Given the description of an element on the screen output the (x, y) to click on. 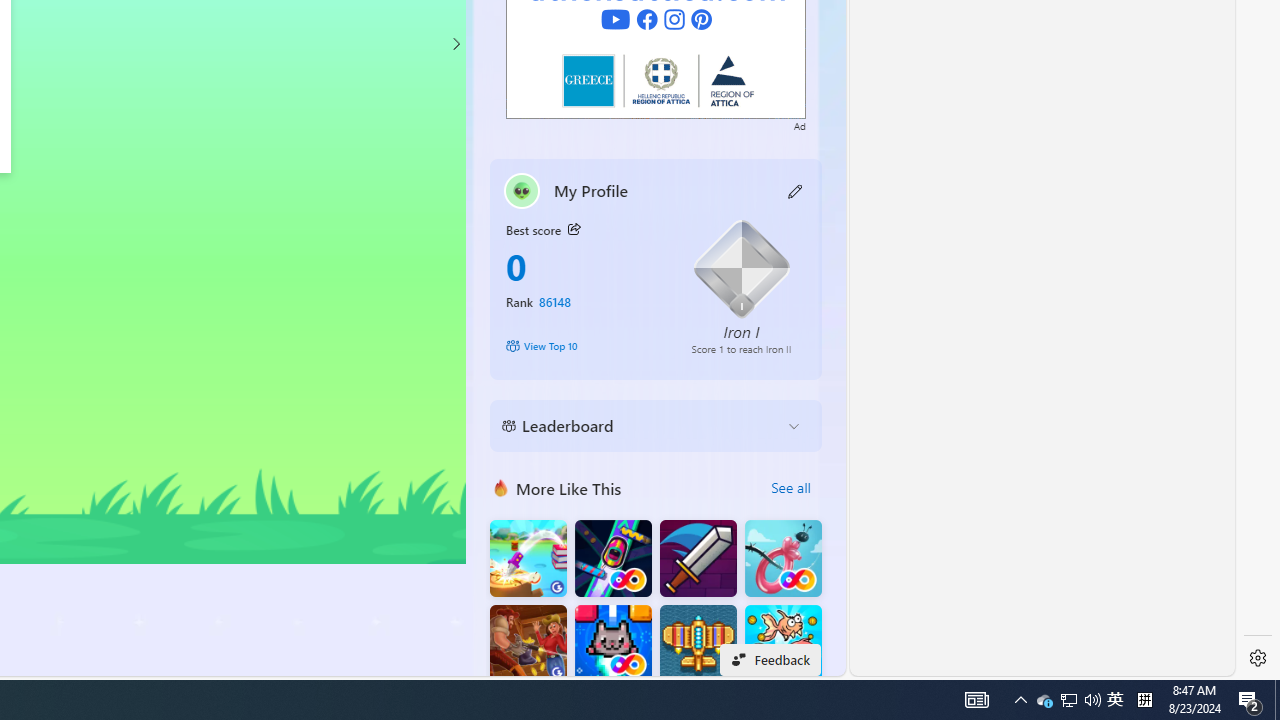
More Like This (501, 487)
